Given the description of an element on the screen output the (x, y) to click on. 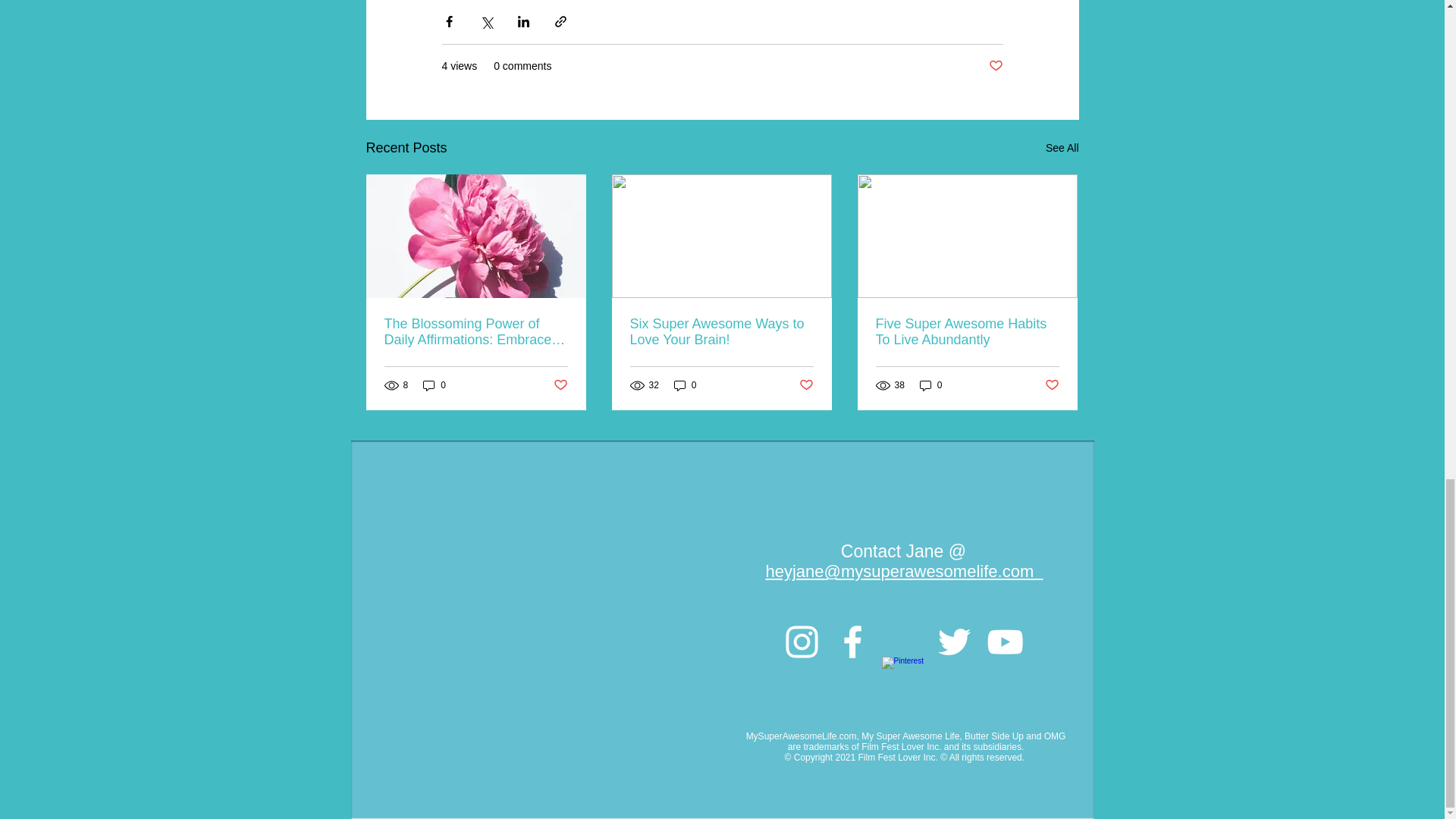
Six Super Awesome Ways to Love Your Brain! (720, 332)
See All (1061, 147)
0 (685, 385)
0 (930, 385)
Five Super Awesome Habits To Live Abundantly (966, 332)
Post not marked as liked (995, 66)
Post not marked as liked (806, 385)
Post not marked as liked (560, 385)
0 (434, 385)
